Given the description of an element on the screen output the (x, y) to click on. 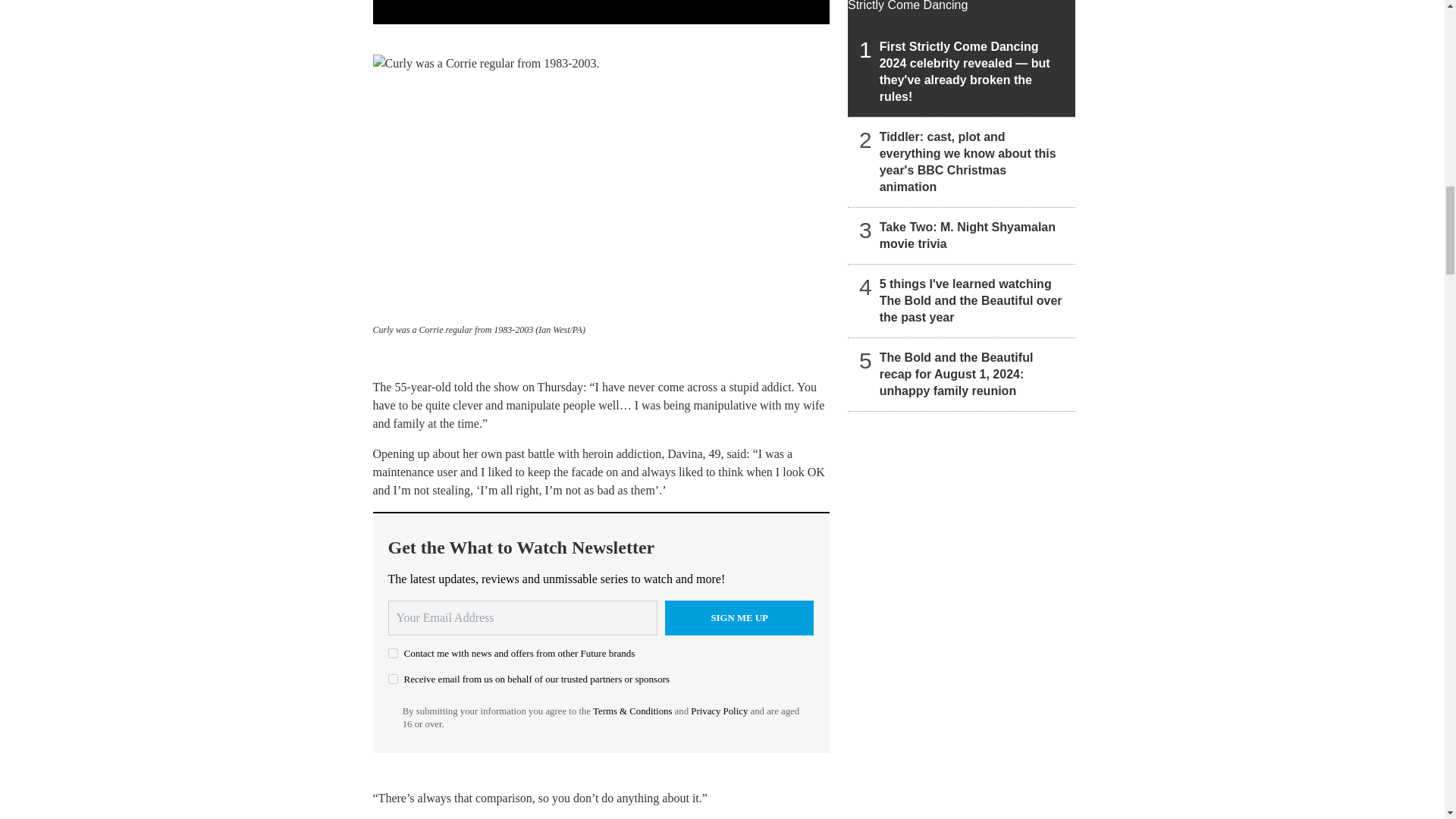
Sign me up (739, 617)
on (392, 678)
on (392, 653)
